Given the description of an element on the screen output the (x, y) to click on. 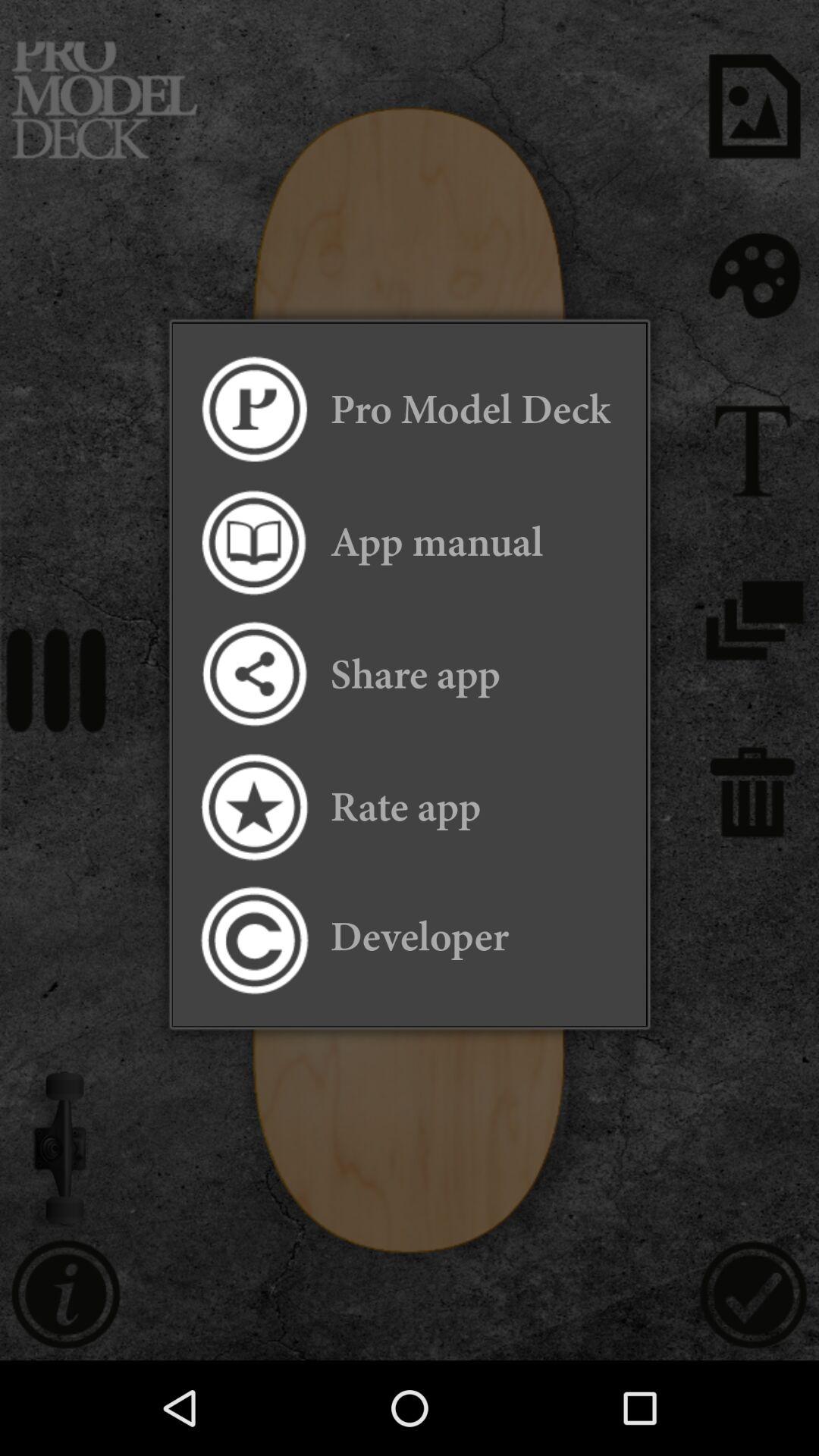
click the icon next to the pro model deck icon (253, 409)
